Given the description of an element on the screen output the (x, y) to click on. 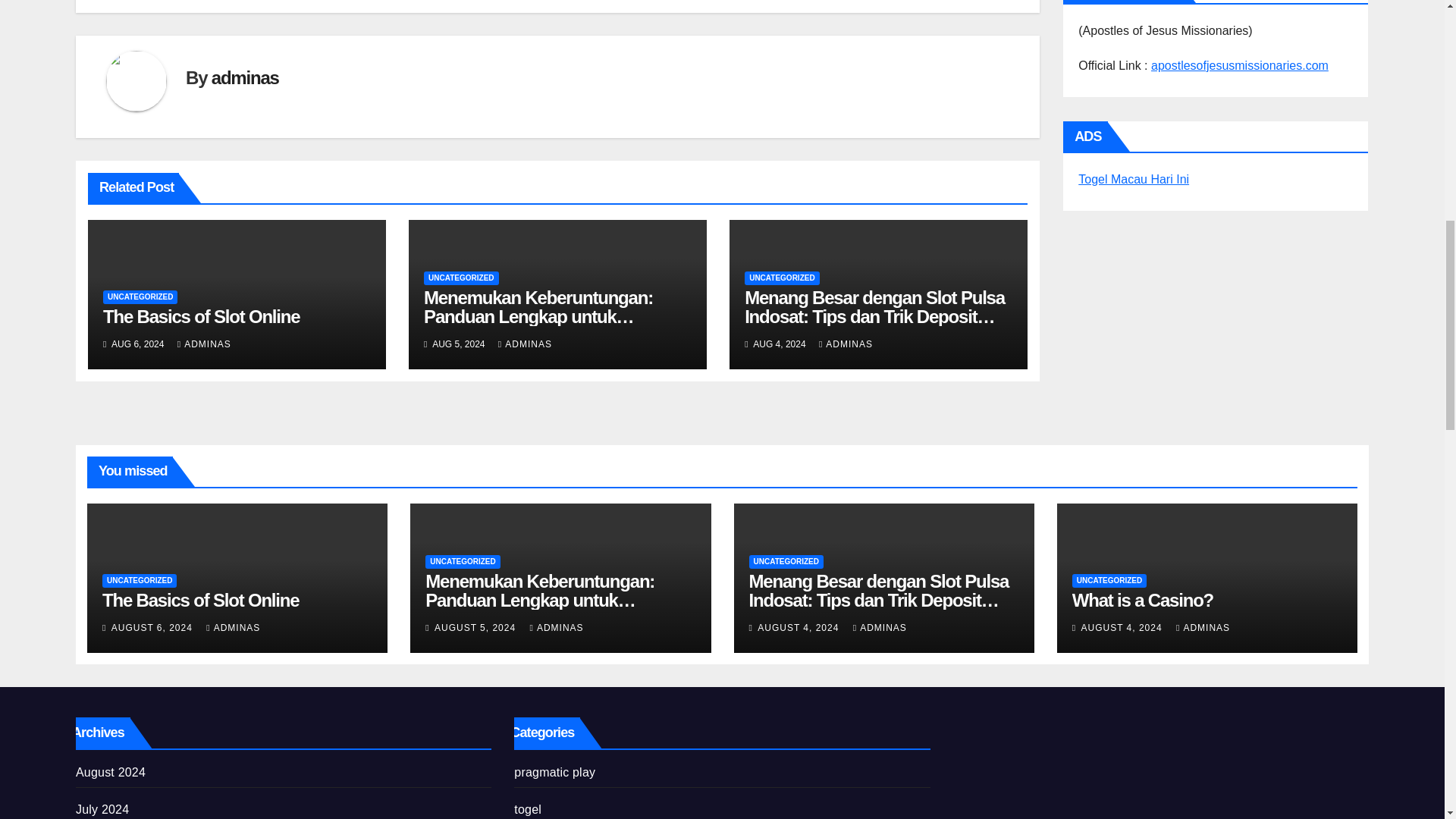
UNCATEGORIZED (140, 296)
ADMINAS (204, 344)
The Basics of Slot Online (201, 316)
Permalink to: The Basics of Slot Online (199, 599)
Permalink to: What is a Casino? (1141, 599)
Permalink to: The Basics of Slot Online (201, 316)
adminas (245, 77)
